Given the description of an element on the screen output the (x, y) to click on. 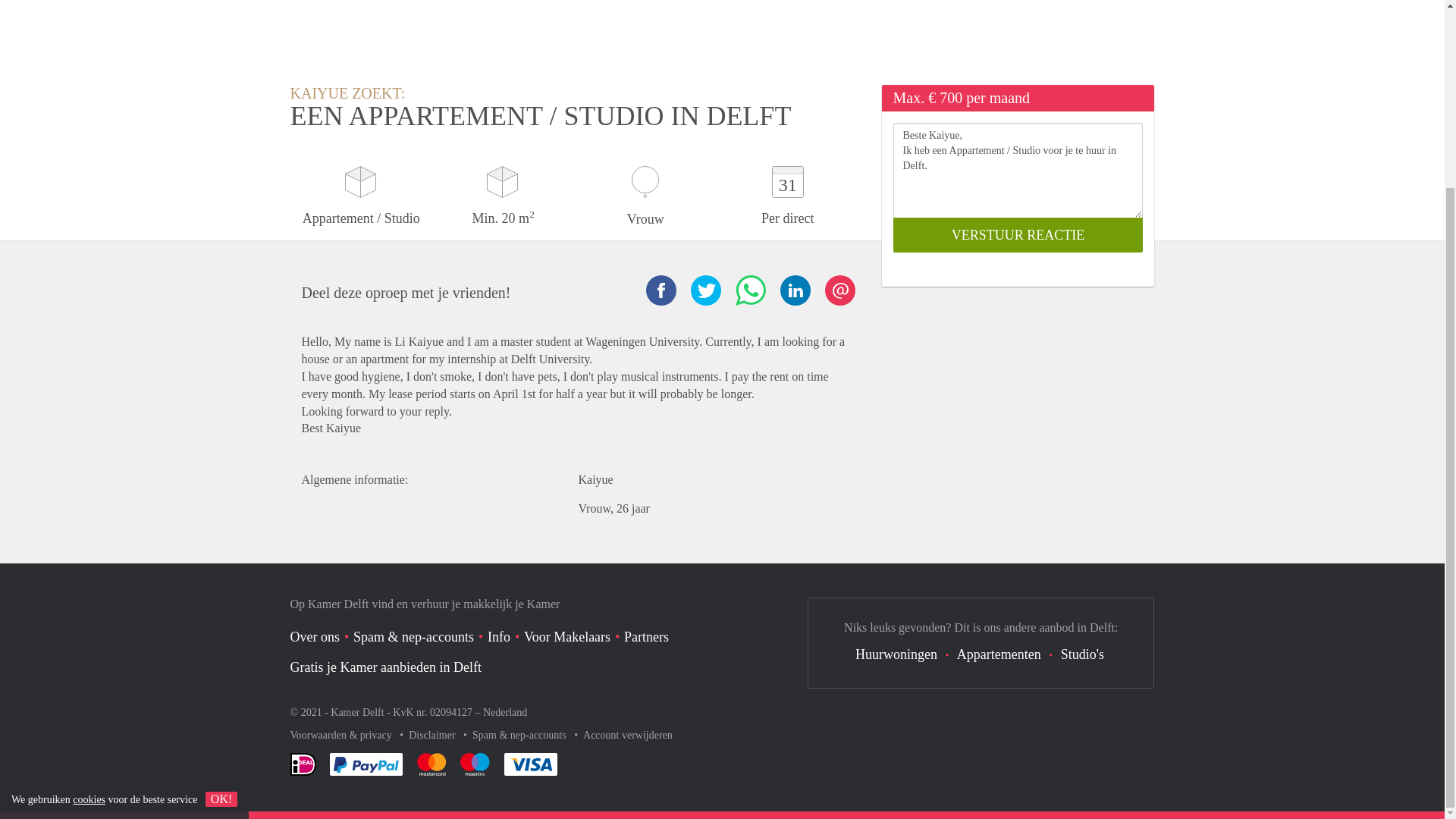
cookies (88, 565)
Deel deze oproep via LinkedIn (793, 290)
Info (499, 636)
Deel deze oproep via Twitter (705, 290)
Deel deze oproep via E-mail (840, 290)
Disclaimer (433, 735)
Nederland (505, 712)
Account verwijderen (627, 735)
VERSTUUR REACTIE (1017, 234)
Voor Makelaars (567, 636)
Deel deze oproep via Whatsapp (750, 290)
Deel deze oproep via Facebook (661, 290)
VERSTUUR REACTIE (1017, 234)
Over ons (314, 636)
Partners (646, 636)
